Given the description of an element on the screen output the (x, y) to click on. 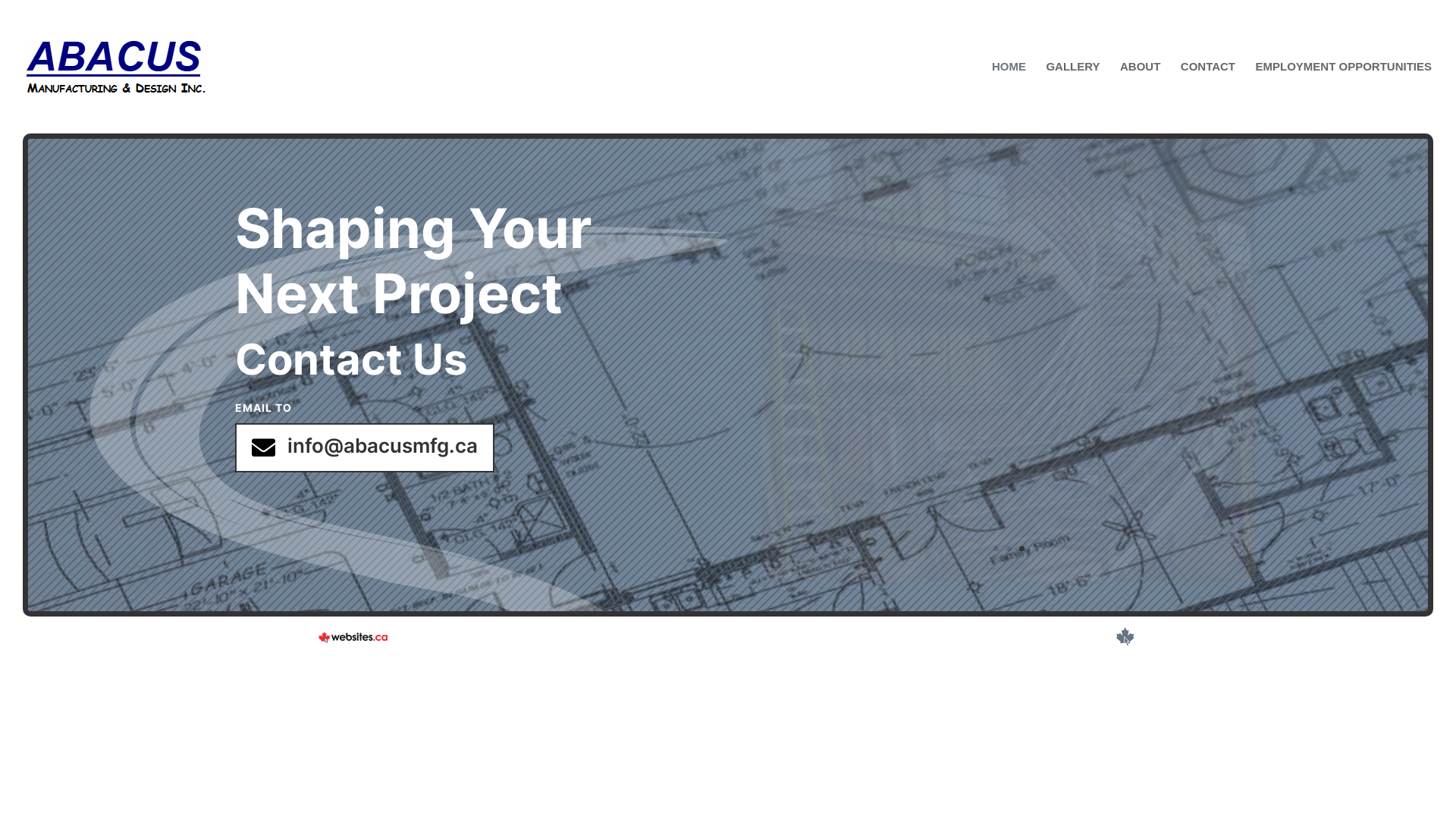
EMPLOYMENT OPPORTUNITIES Element type: text (1343, 97)
3 Element type: text (1021, 548)
HOME Element type: text (1008, 97)
1 Element type: text (995, 548)
career-coach-3 Element type: hover (408, 418)
CONTACT Element type: text (1207, 97)
Websites.ca Directory Element type: hover (1125, 637)
GALLERY Element type: text (1072, 97)
ABOUT Element type: text (1140, 97)
2 Element type: text (1007, 548)
